Given the description of an element on the screen output the (x, y) to click on. 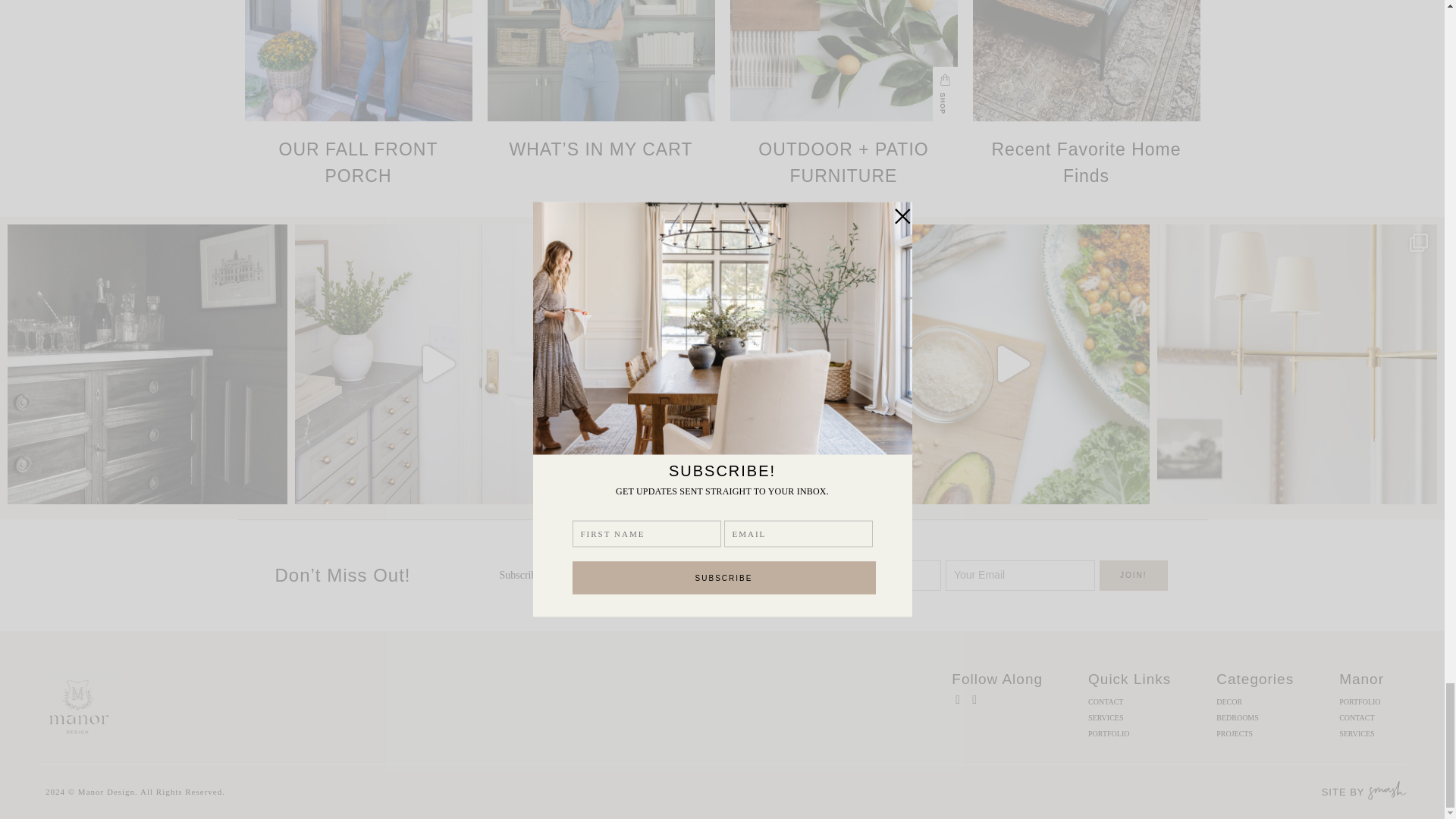
Join! (1133, 575)
